Given the description of an element on the screen output the (x, y) to click on. 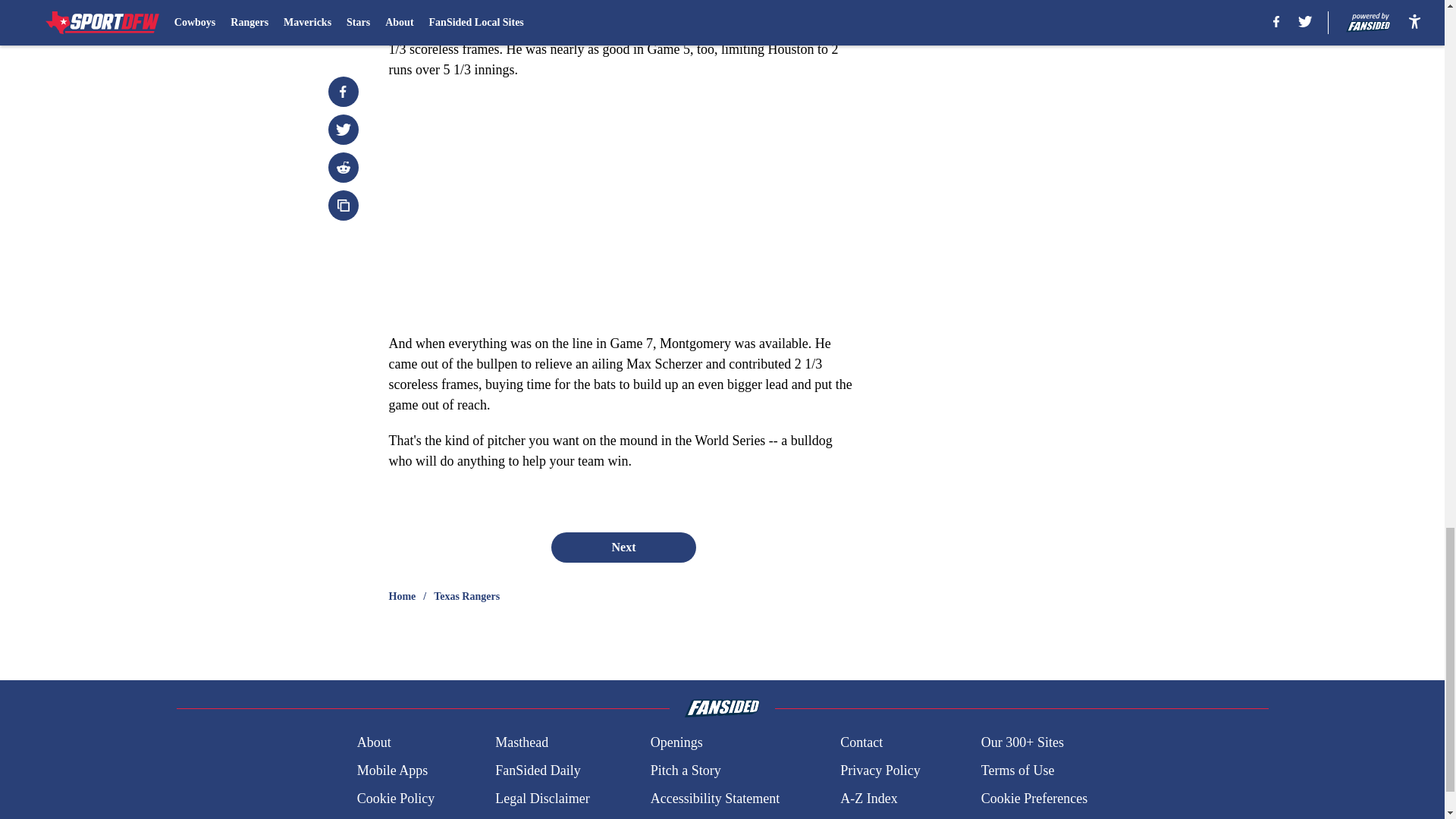
Masthead (521, 742)
Cookie Policy (395, 798)
Legal Disclaimer (542, 798)
About (373, 742)
Privacy Policy (880, 770)
Texas Rangers (466, 596)
Openings (676, 742)
Pitch a Story (685, 770)
FanSided Daily (537, 770)
Terms of Use (1017, 770)
Home (401, 596)
Contact (861, 742)
Next (622, 547)
Mobile Apps (392, 770)
